Given the description of an element on the screen output the (x, y) to click on. 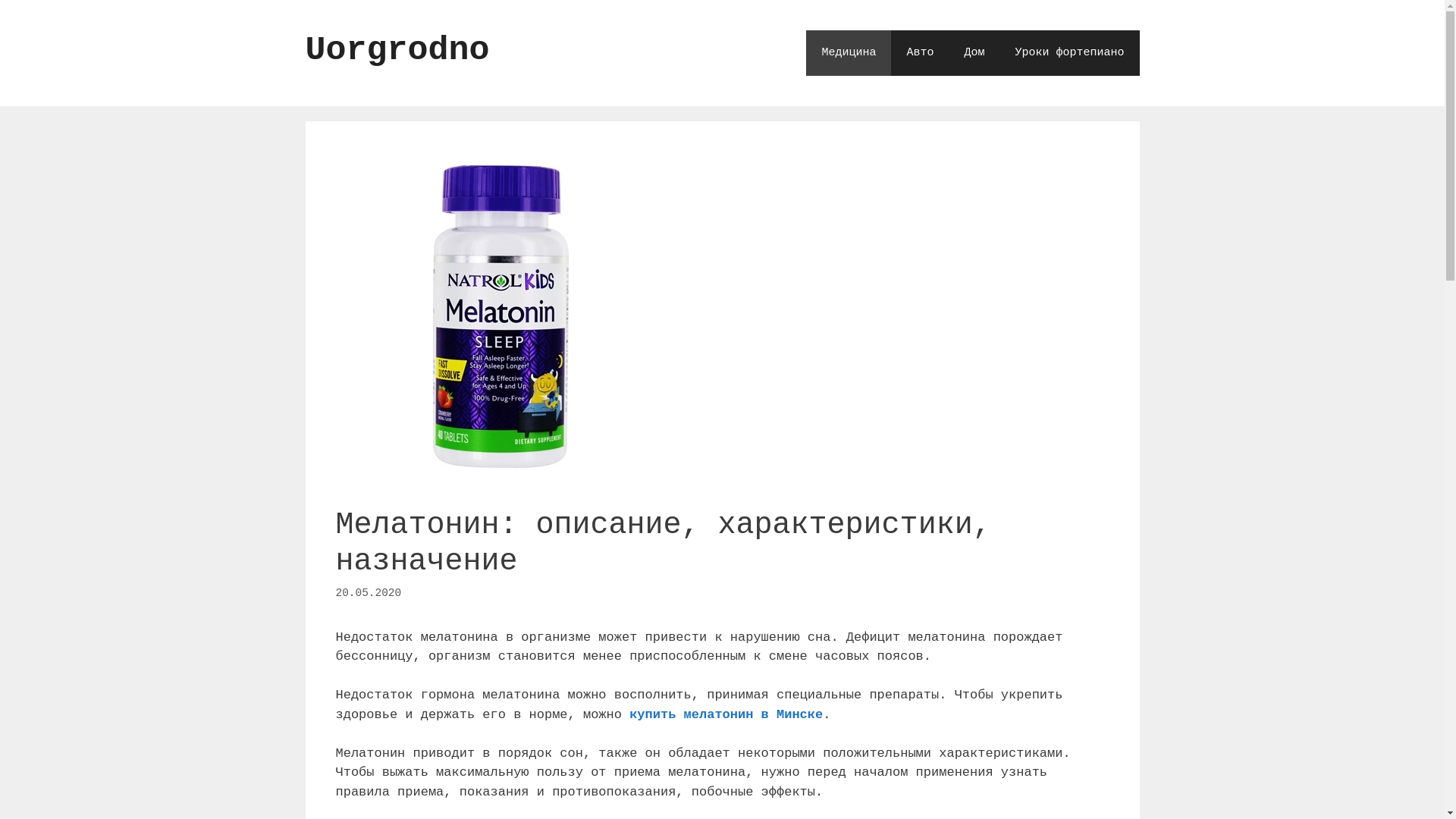
Uorgrodno Element type: text (396, 50)
20.05.2020 Element type: text (368, 592)
